Given the description of an element on the screen output the (x, y) to click on. 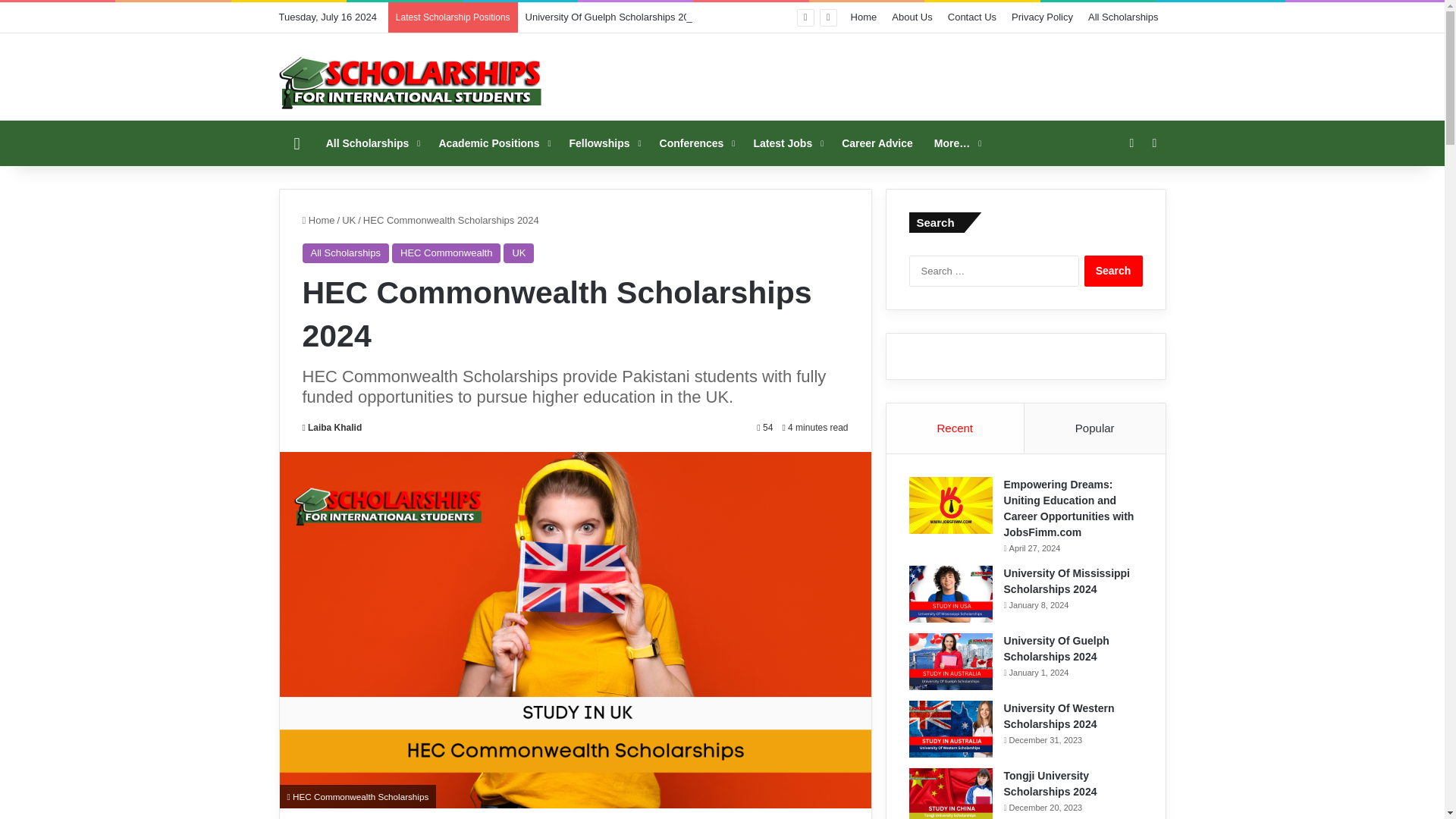
Home (317, 220)
Conferences (695, 143)
All Scholarships (344, 252)
Home (864, 17)
HEC Commonwealth (445, 252)
About Us (911, 17)
Fellowships (602, 143)
Laiba Khalid (331, 427)
All Scholarships (371, 143)
Latest Jobs (786, 143)
University Of Guelph Scholarships 2024  (614, 16)
UK (518, 252)
UK (348, 220)
Search (1113, 270)
Privacy Policy (1042, 17)
